Given the description of an element on the screen output the (x, y) to click on. 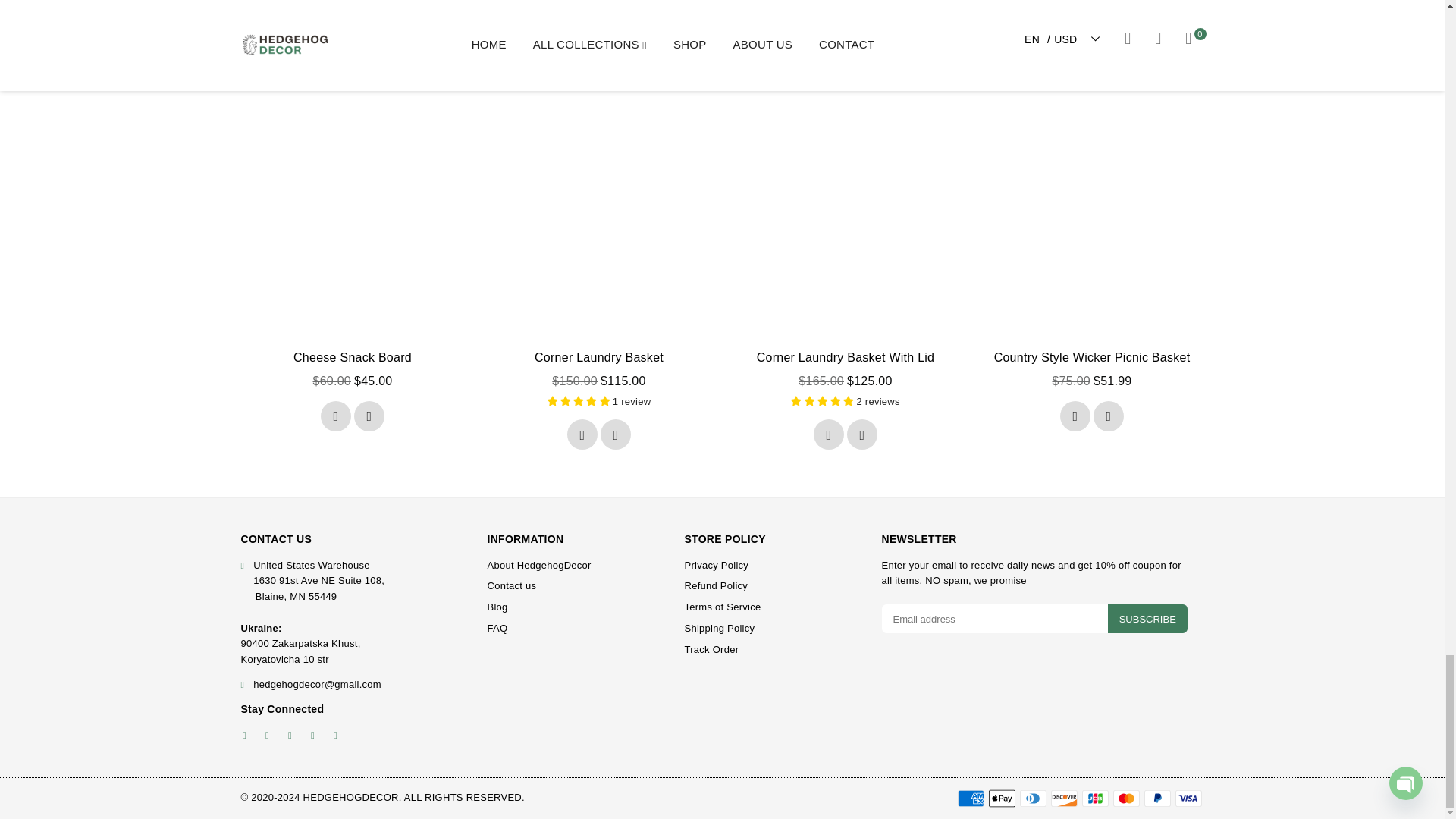
Apple Pay (1001, 798)
Mastercard (1126, 798)
PayPal (1156, 798)
Visa (1188, 798)
JCB (1094, 798)
American Express (970, 798)
Diners Club (1032, 798)
Discover (1064, 798)
